Given the description of an element on the screen output the (x, y) to click on. 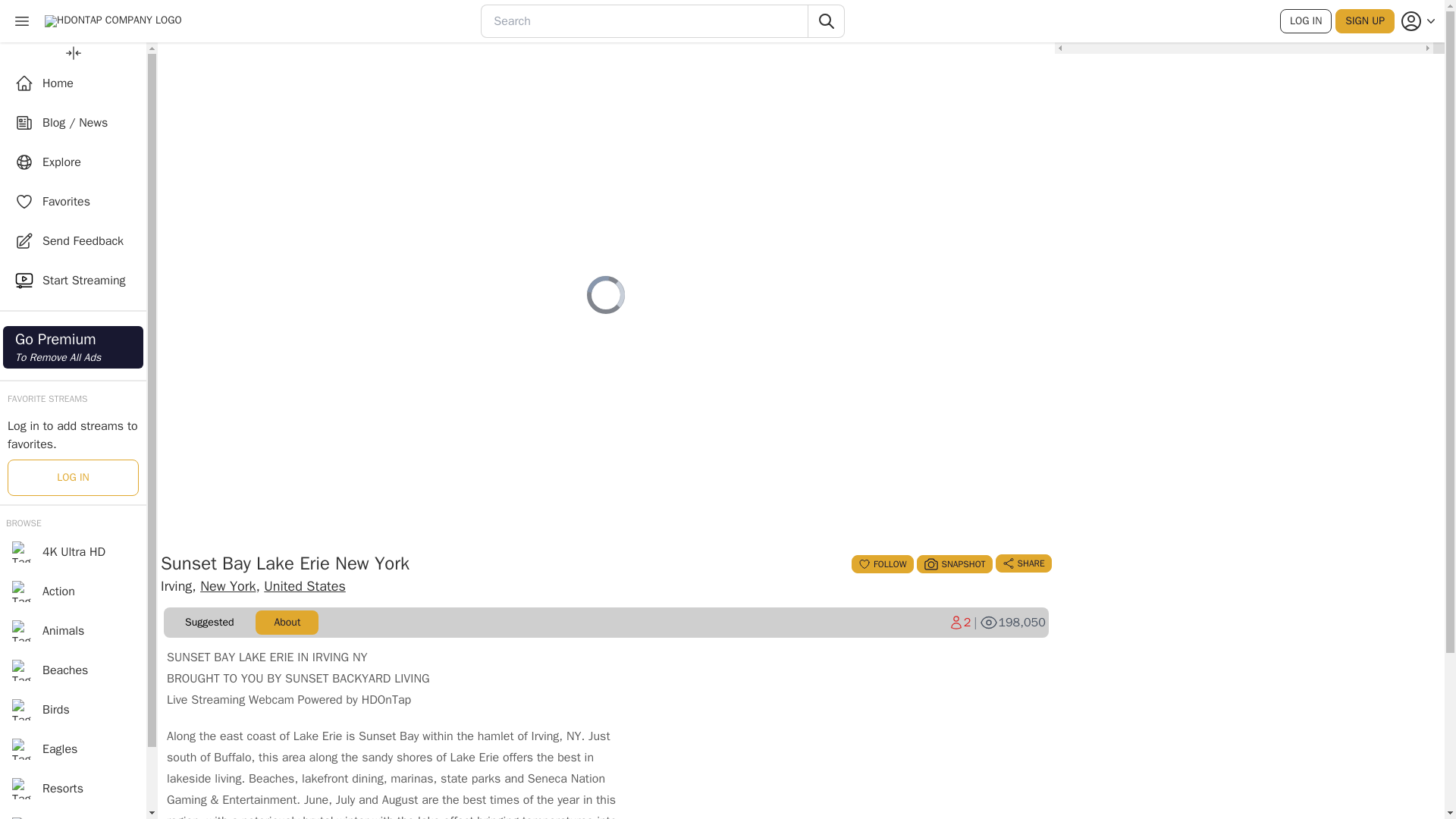
Send Feedback (72, 240)
Total views (1012, 622)
Resorts (73, 788)
LOG IN (1305, 21)
Eagles (73, 749)
Follow this stream (881, 564)
Explore (72, 162)
Start Streaming (72, 280)
FOLLOW (72, 346)
4K Ultra HD (881, 564)
Beaches (73, 551)
Home (73, 670)
Action (72, 83)
Animals (73, 590)
